Given the description of an element on the screen output the (x, y) to click on. 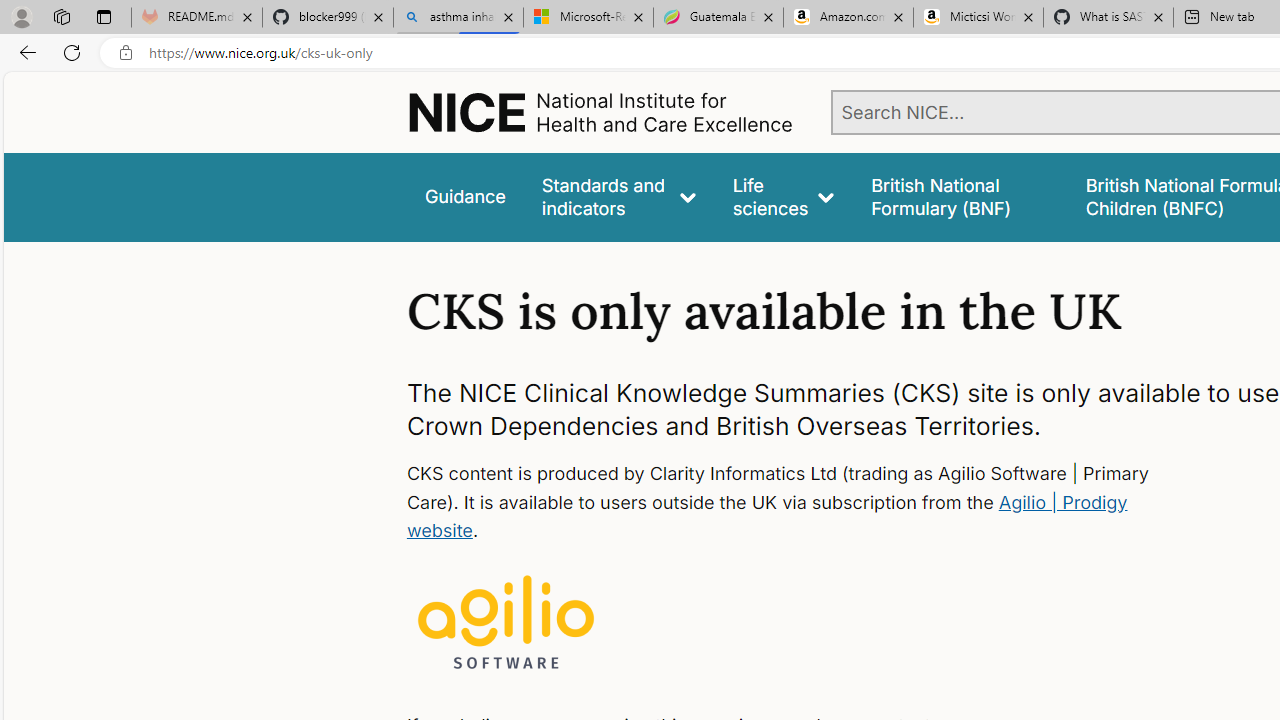
Workspaces (61, 16)
Guidance (464, 196)
Personal Profile (21, 16)
asthma inhaler - Search (458, 17)
Guidance (464, 196)
